Given the description of an element on the screen output the (x, y) to click on. 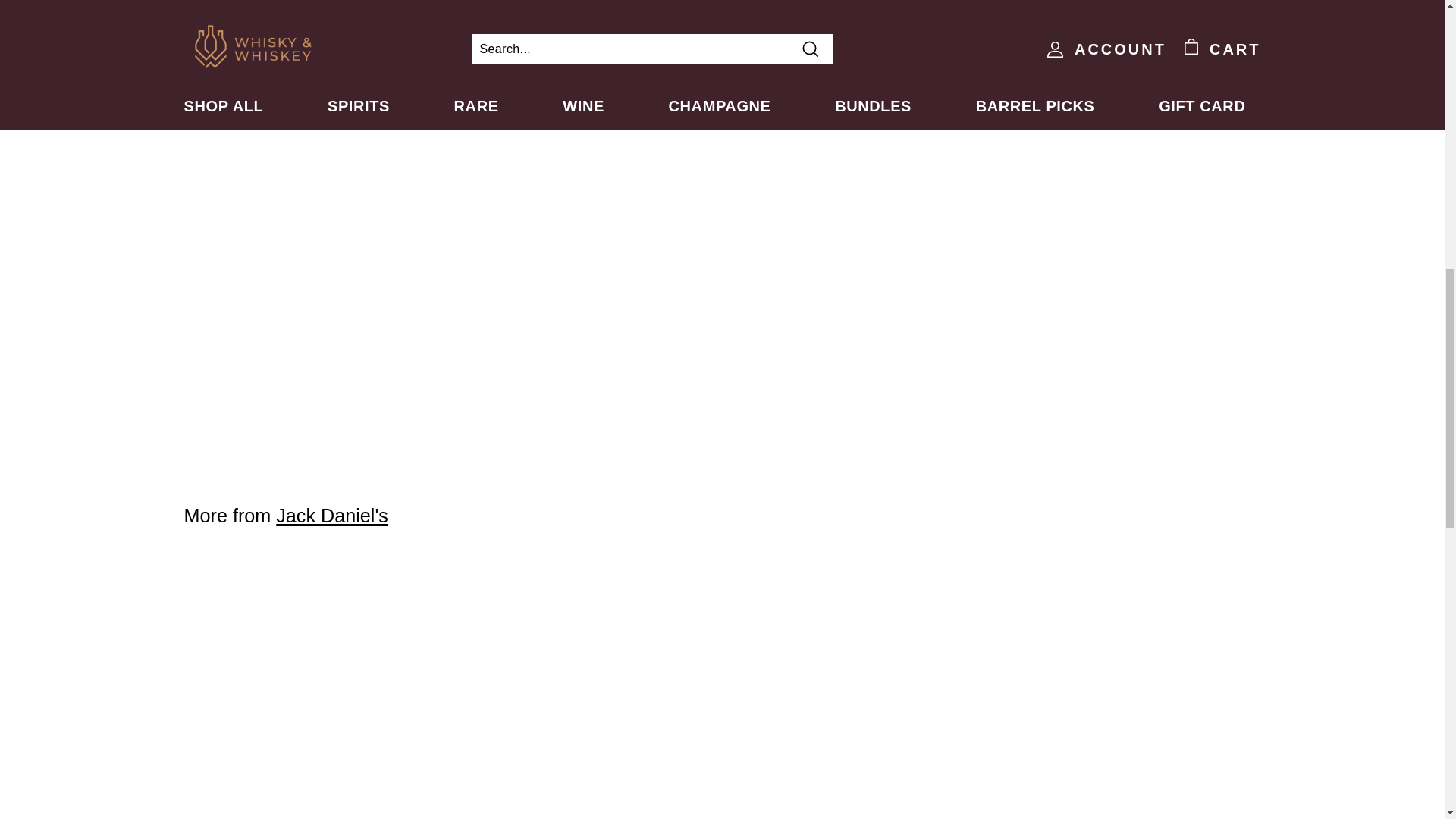
Jack Daniel's (332, 515)
